Given the description of an element on the screen output the (x, y) to click on. 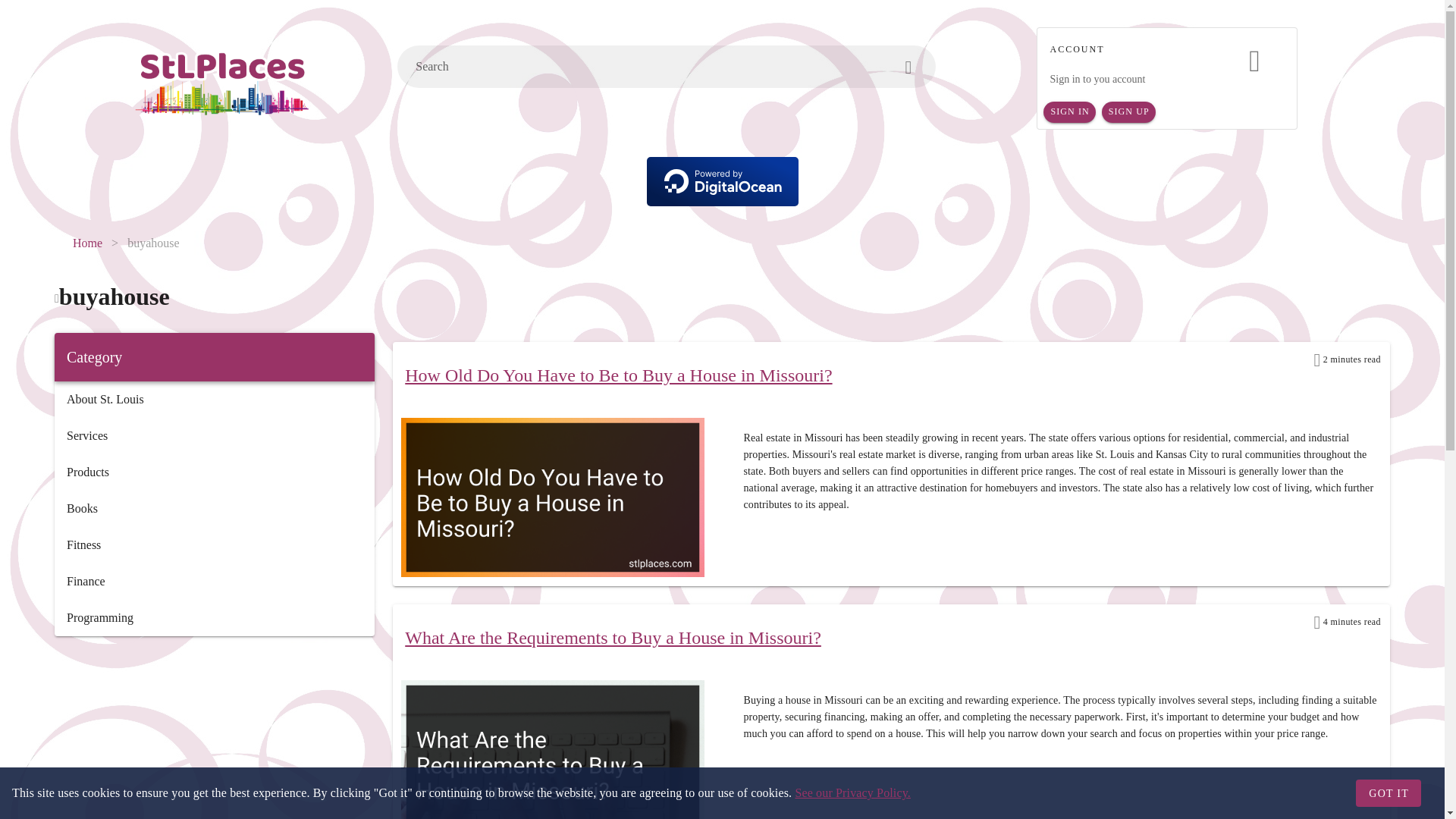
Fitness (214, 545)
SIGN IN (1068, 111)
Advertisement (214, 733)
Home (86, 243)
See our Privacy Policy. (852, 792)
What Are the Requirements to Buy a House in Missouri? (612, 637)
GOT IT (1388, 792)
SIGN UP (1129, 111)
How Old Do You Have to Be to Buy a House in Missouri? (617, 375)
buyahouse (153, 243)
Books (214, 508)
Finance (214, 581)
Programming (214, 617)
Products (214, 472)
Services (214, 435)
